Given the description of an element on the screen output the (x, y) to click on. 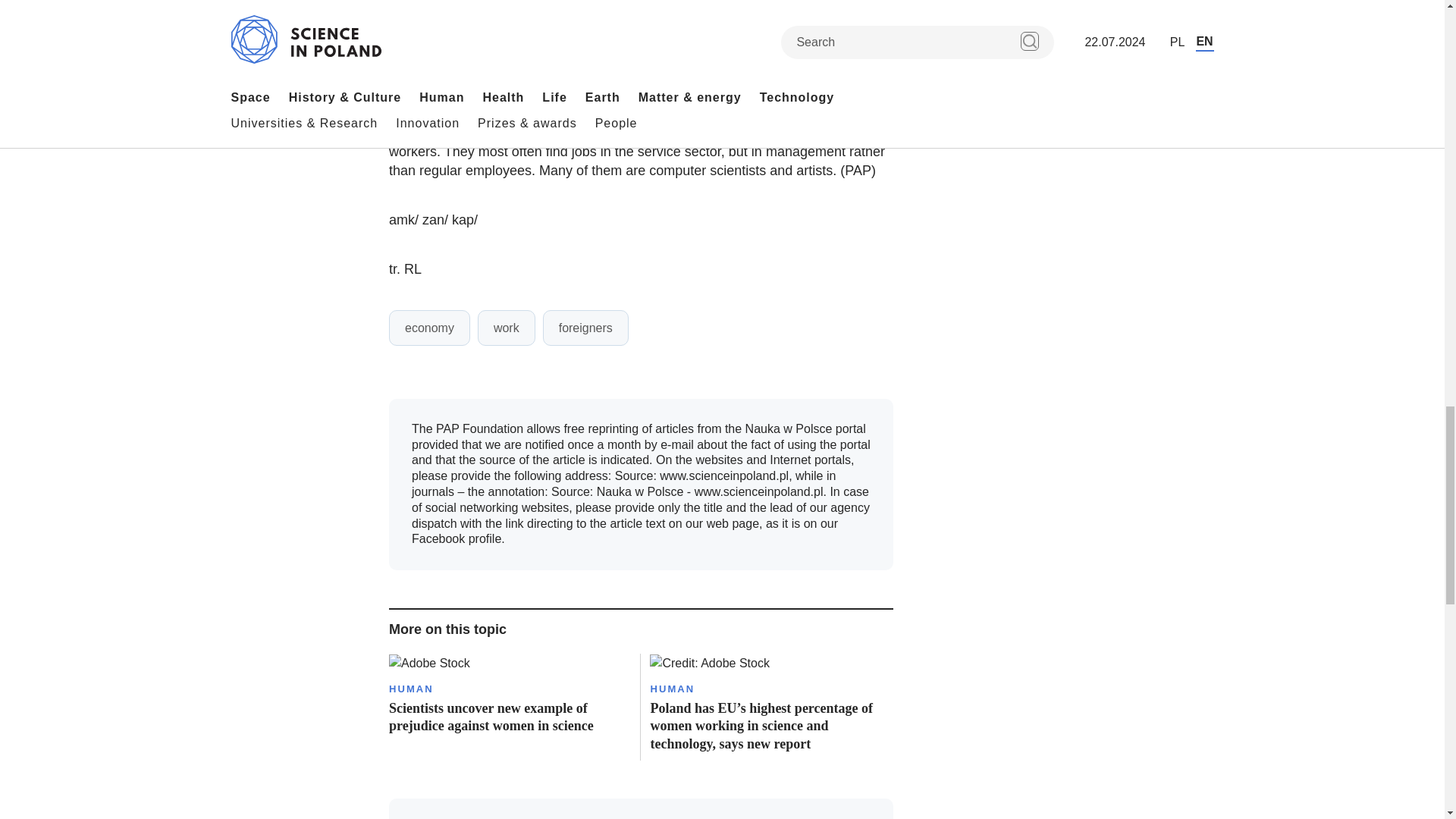
HUMAN (411, 689)
work (506, 327)
HUMAN (672, 689)
foreigners (585, 327)
economy (429, 327)
